Given the description of an element on the screen output the (x, y) to click on. 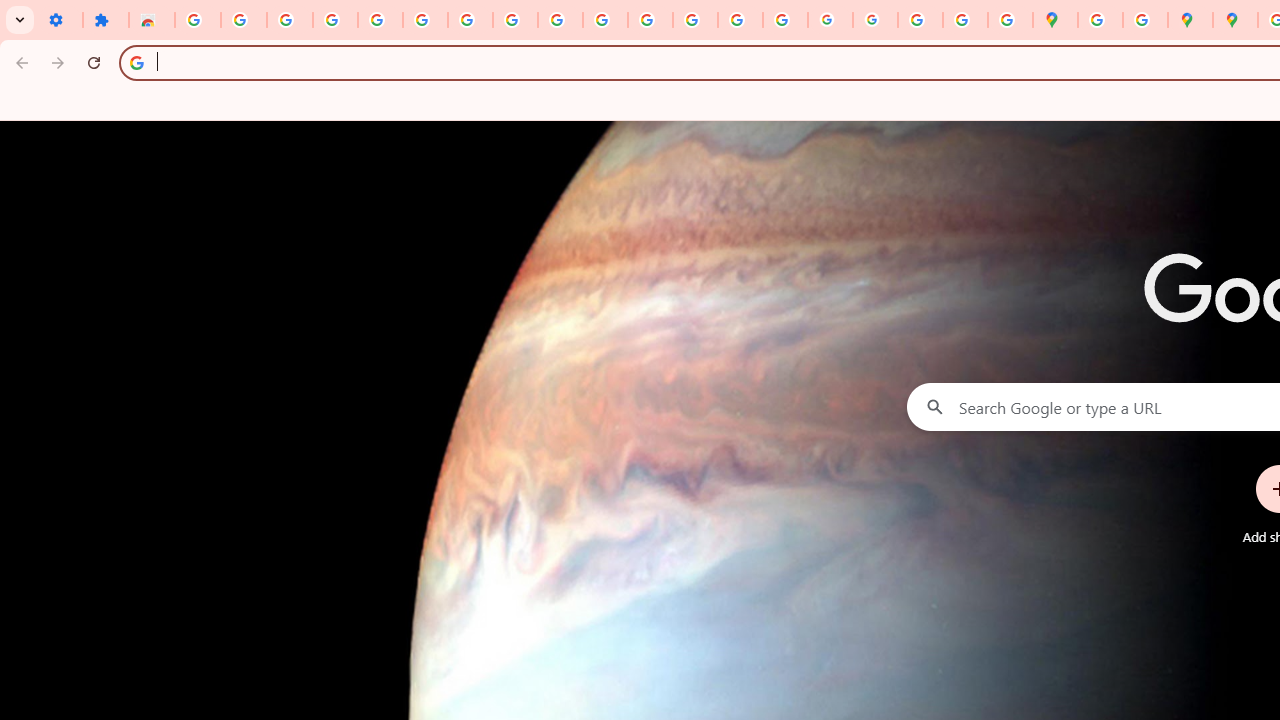
Learn how to find your photos - Google Photos Help (335, 20)
